Given the description of an element on the screen output the (x, y) to click on. 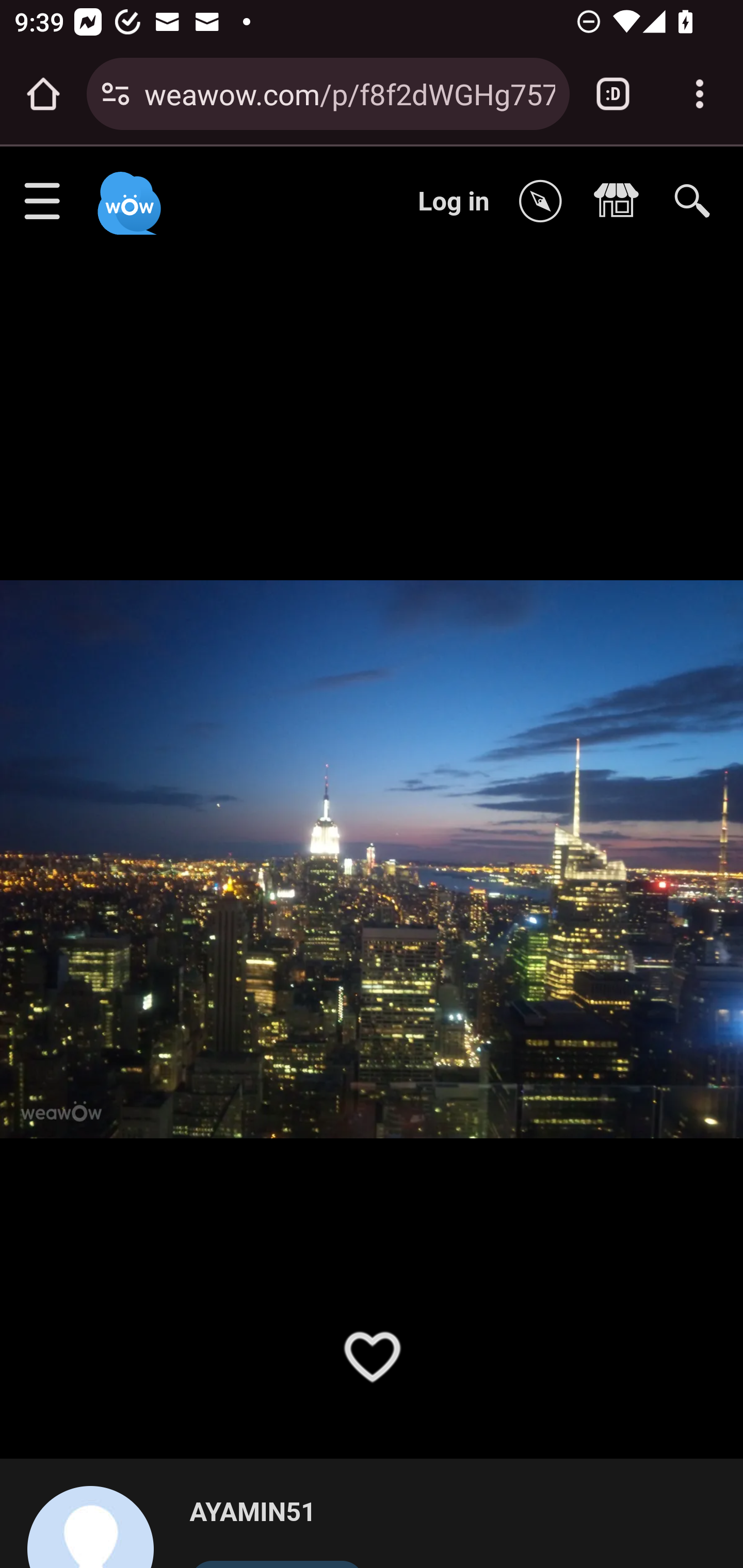
Open the home page (43, 93)
Connection is secure (115, 93)
Switch or close tabs (612, 93)
Customize and control Google Chrome (699, 93)
weawow.com/p/f8f2dWGHg7570911 (349, 92)
Weawow (127, 194)
 (545, 201)
 (621, 201)
Log in (453, 201)
AYAMIN51 (99, 1525)
AYAMIN51 (275, 1513)
